Given the description of an element on the screen output the (x, y) to click on. 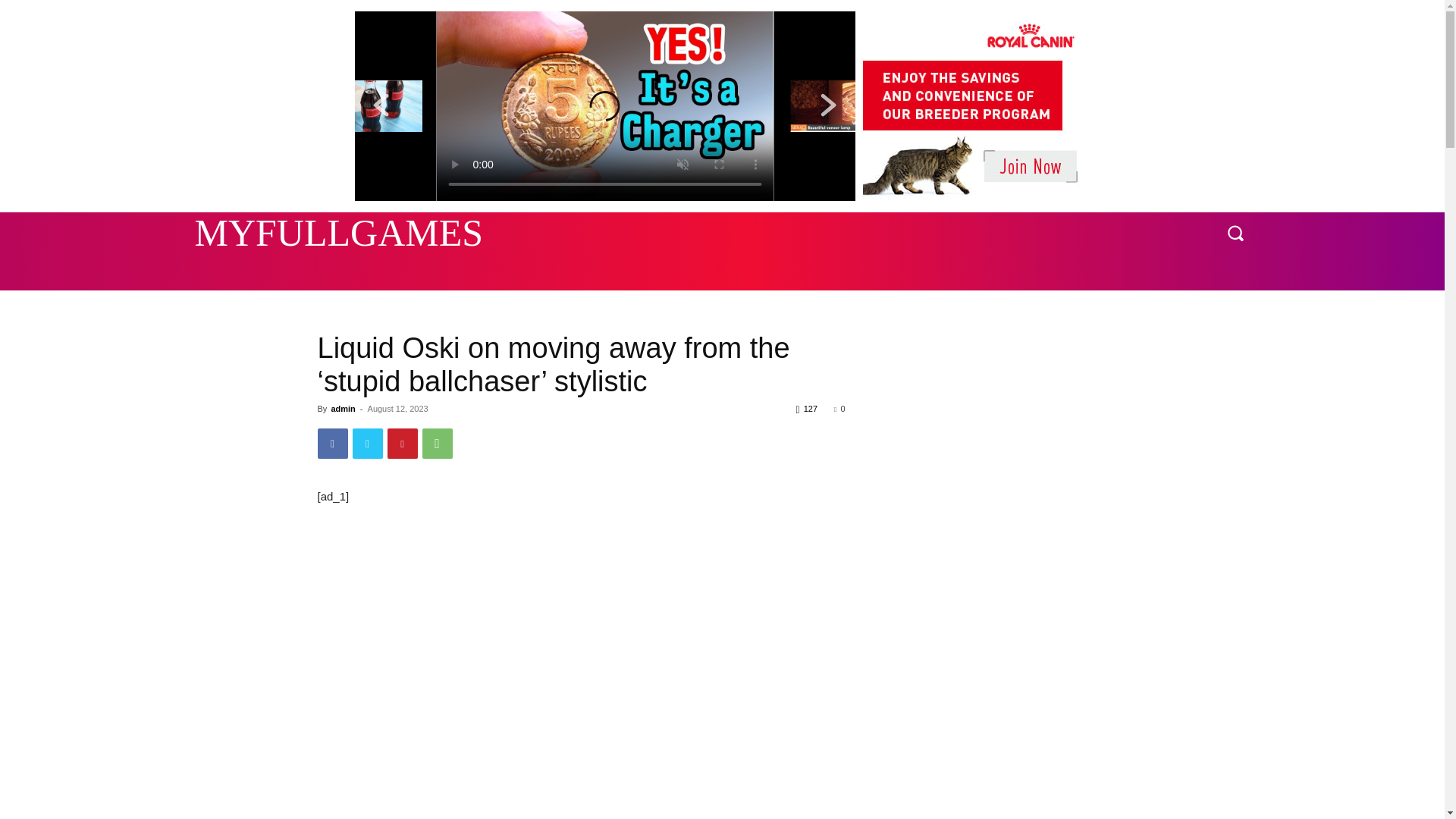
Pinterest (401, 443)
Previous (381, 106)
admin (342, 408)
Facebook (332, 443)
MYFULLGAMES (273, 232)
Next (828, 106)
WhatsApp (436, 443)
Twitter (366, 443)
0 (839, 408)
